Given the description of an element on the screen output the (x, y) to click on. 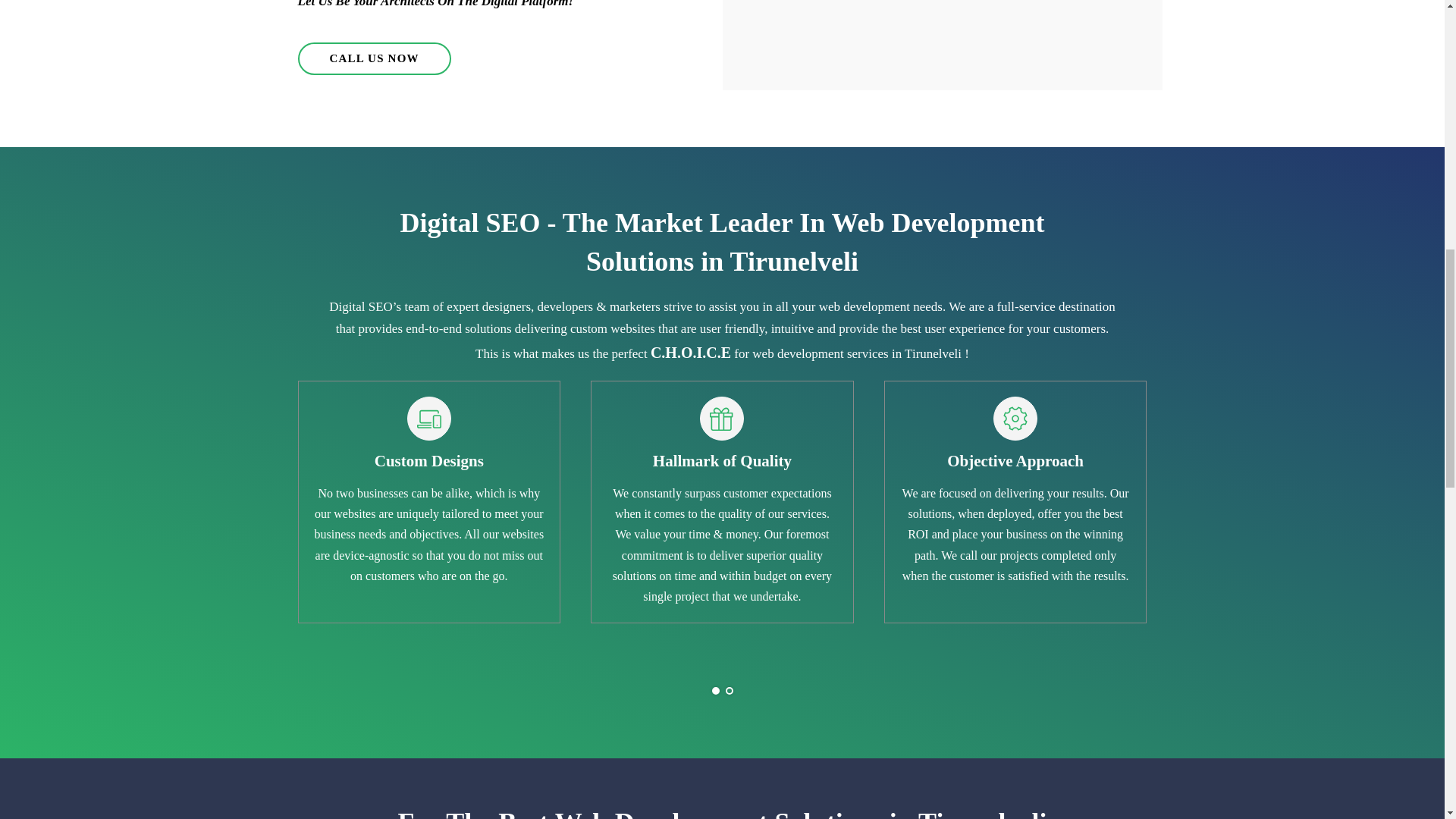
CALL US NOW (373, 59)
